Given the description of an element on the screen output the (x, y) to click on. 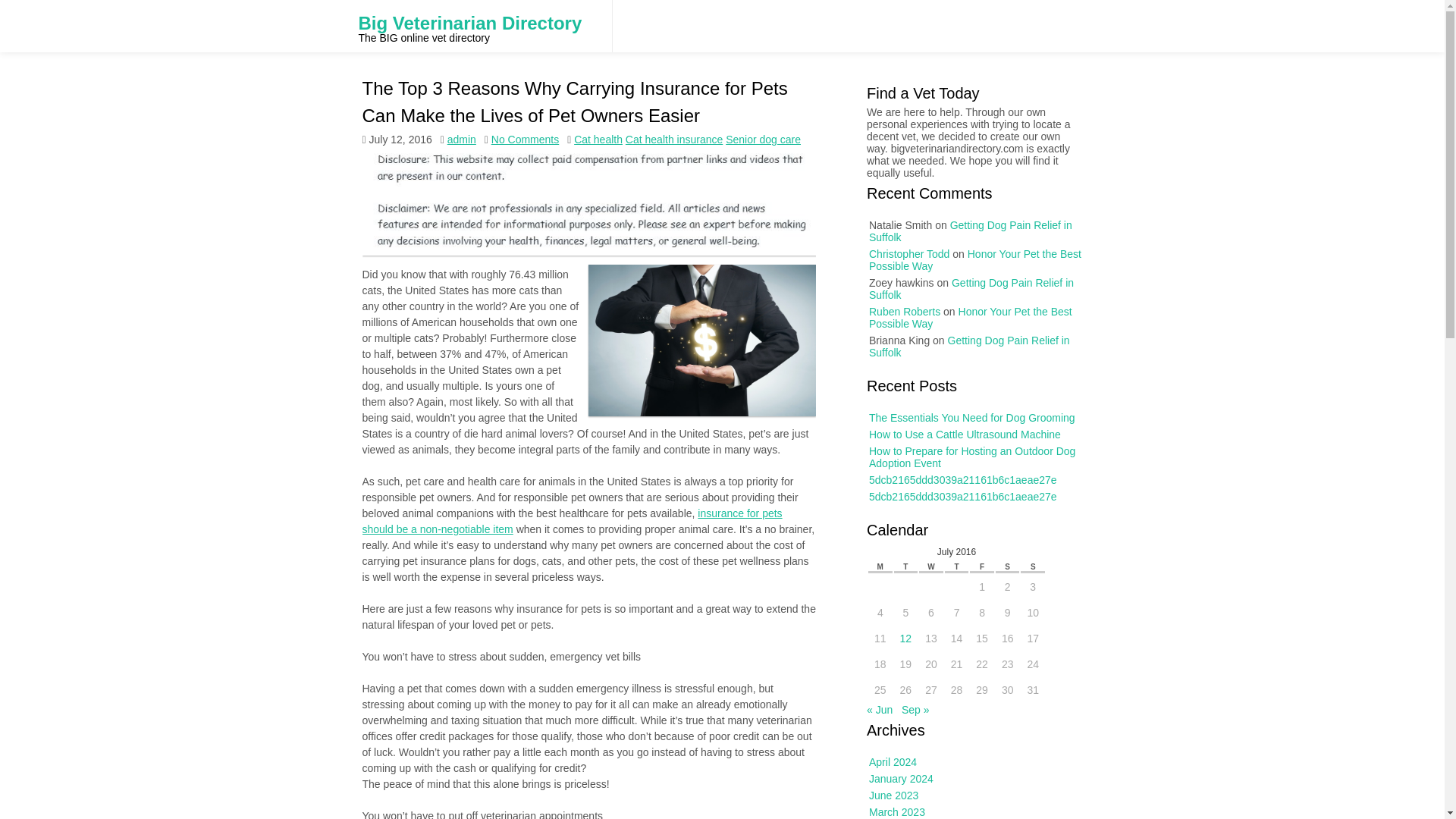
Ruben Roberts (943, 568)
Getting Dog Pain Relief in Suffolk (1004, 561)
Senior dog care (762, 139)
Cat health (598, 139)
Tuesday (907, 579)
Information on pet insurance, Pet health insurance plans (576, 520)
Christopher Todd (957, 580)
June 2023 (908, 817)
April 2024 (909, 798)
Getting Dog Pain Relief in Suffolk (1013, 574)
